Given the description of an element on the screen output the (x, y) to click on. 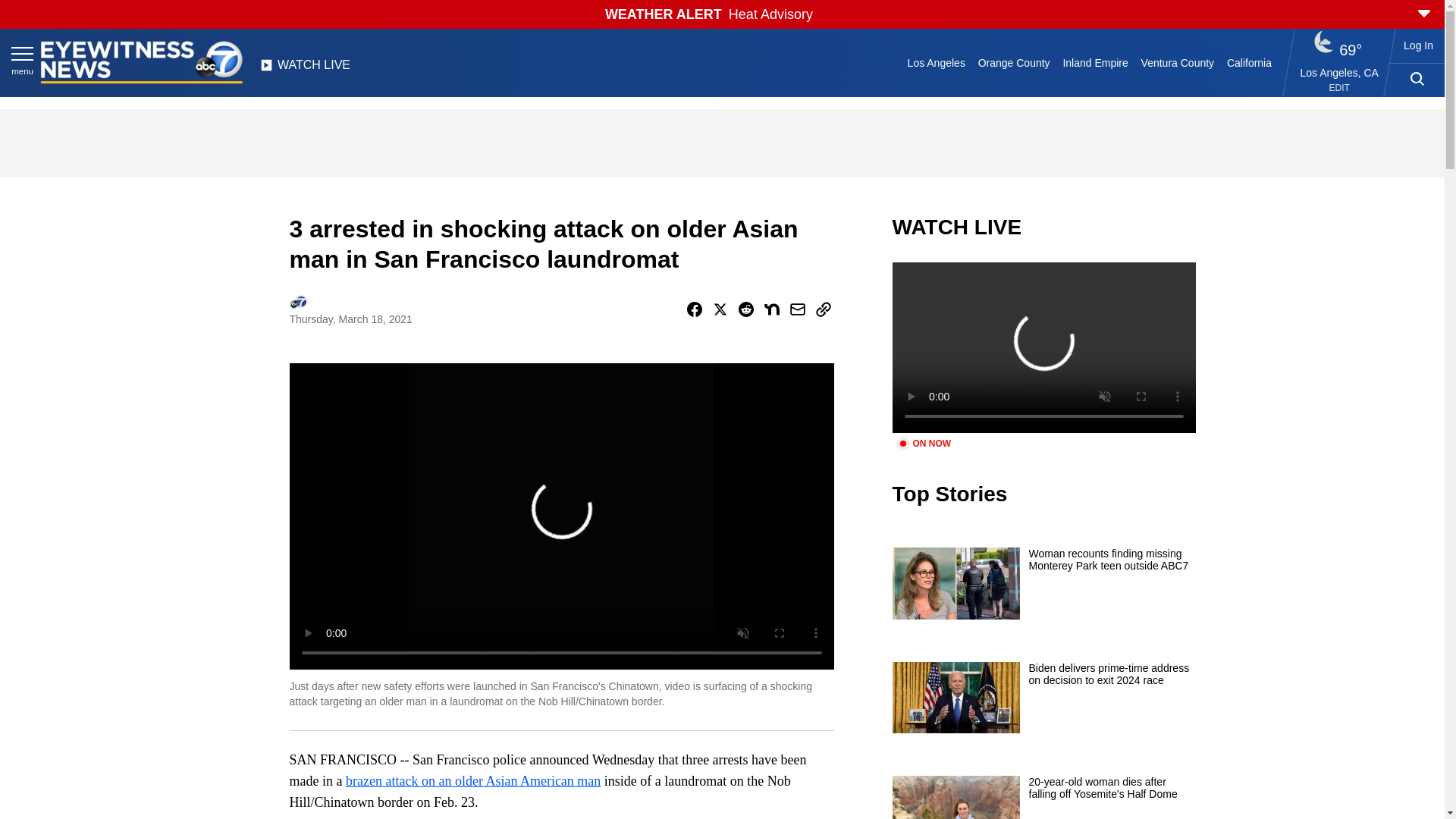
EDIT (1339, 87)
Los Angeles (936, 62)
video.title (1043, 347)
California (1249, 62)
Orange County (1014, 62)
Inland Empire (1095, 62)
Ventura County (1177, 62)
WATCH LIVE (305, 69)
Los Angeles, CA (1339, 72)
